Given the description of an element on the screen output the (x, y) to click on. 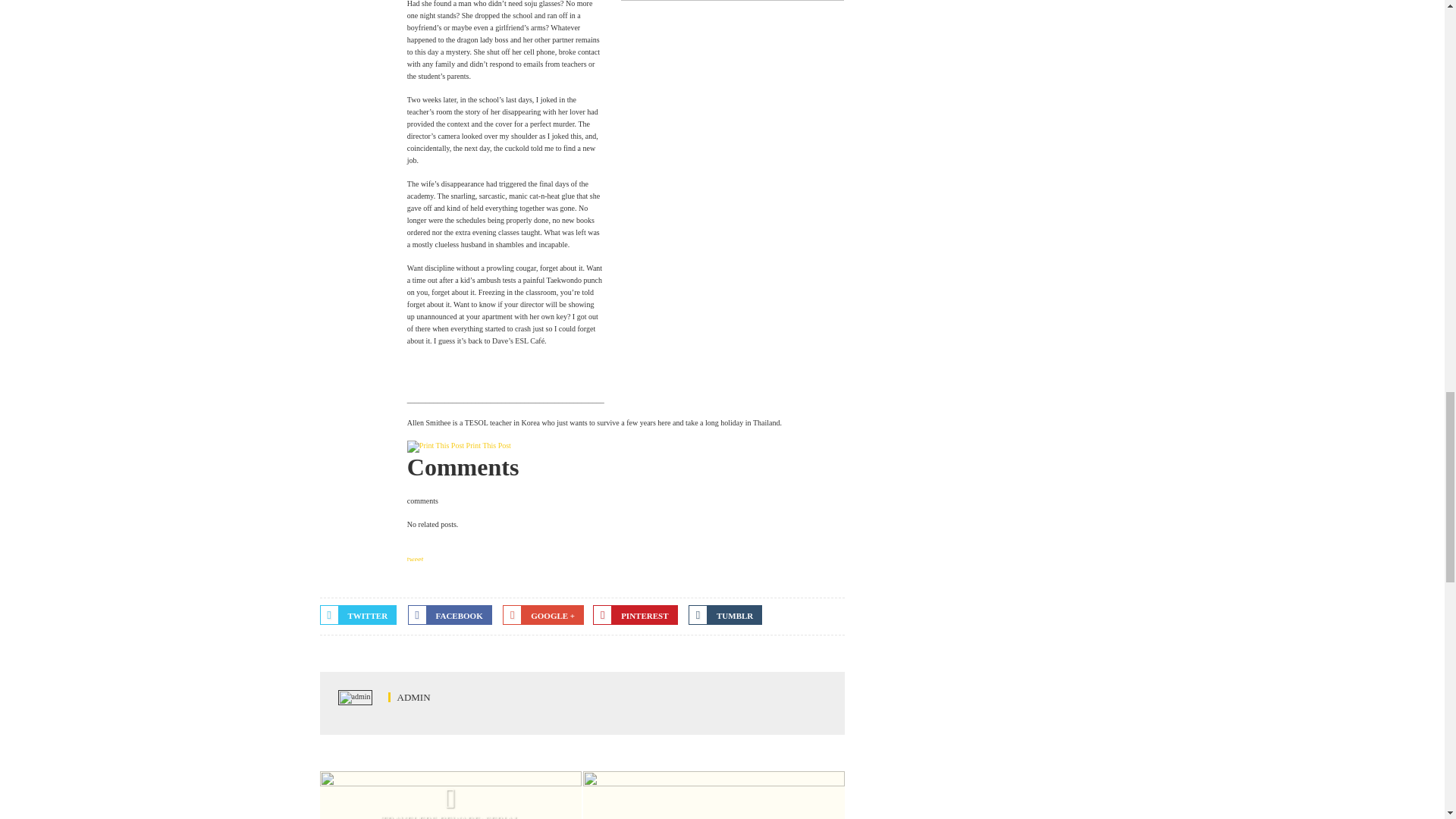
Print This Post (435, 445)
TUMBLR (724, 614)
FACEBOOK (449, 614)
TWITTER (358, 614)
Print This Post (488, 445)
Print This Post (435, 446)
PINTEREST (634, 614)
Print This Post (488, 445)
tweet (415, 559)
ADMIN (409, 696)
